Given the description of an element on the screen output the (x, y) to click on. 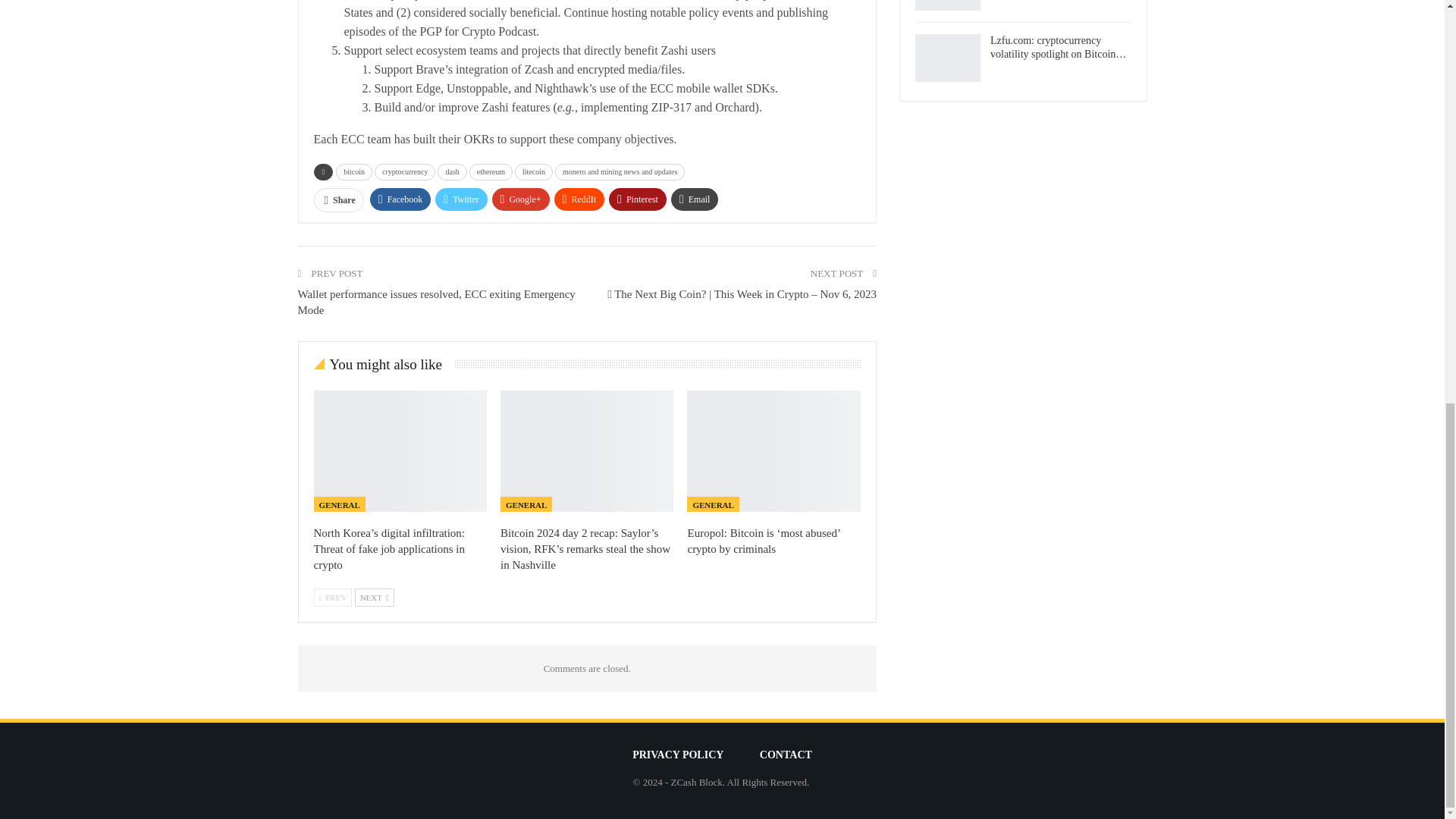
Twitter (460, 199)
ethereum (490, 171)
litecoin (534, 171)
Previous (333, 597)
bitcoin (354, 171)
Facebook (399, 199)
Next (374, 597)
dash (451, 171)
monero and mining news and updates (619, 171)
Email (695, 199)
ReddIt (579, 199)
GENERAL (525, 504)
You might also like (384, 364)
GENERAL (339, 504)
